Given the description of an element on the screen output the (x, y) to click on. 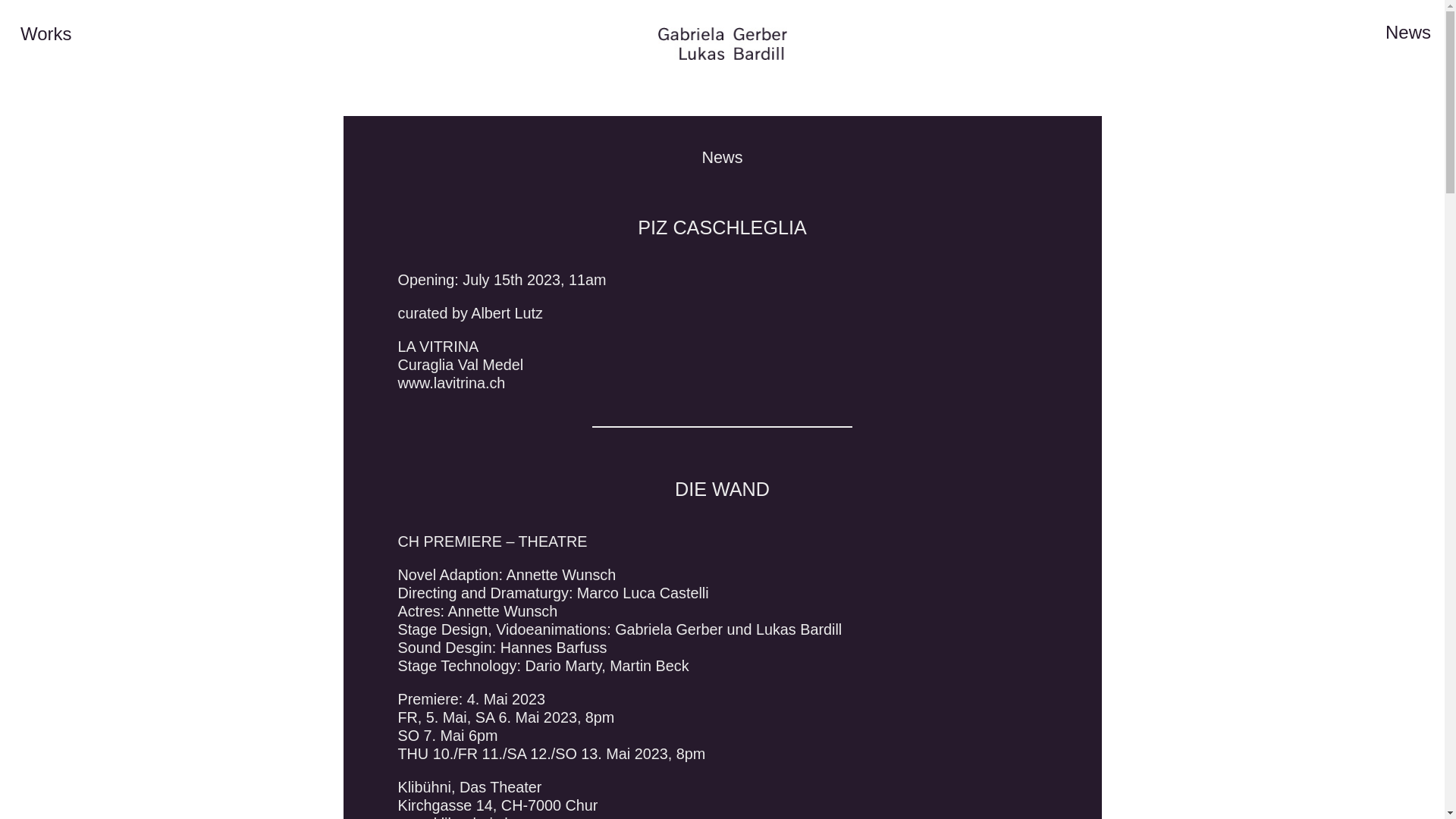
Works Element type: text (46, 33)
www.lavitrina.ch Element type: text (451, 382)
Info Element type: text (1370, 33)
